Given the description of an element on the screen output the (x, y) to click on. 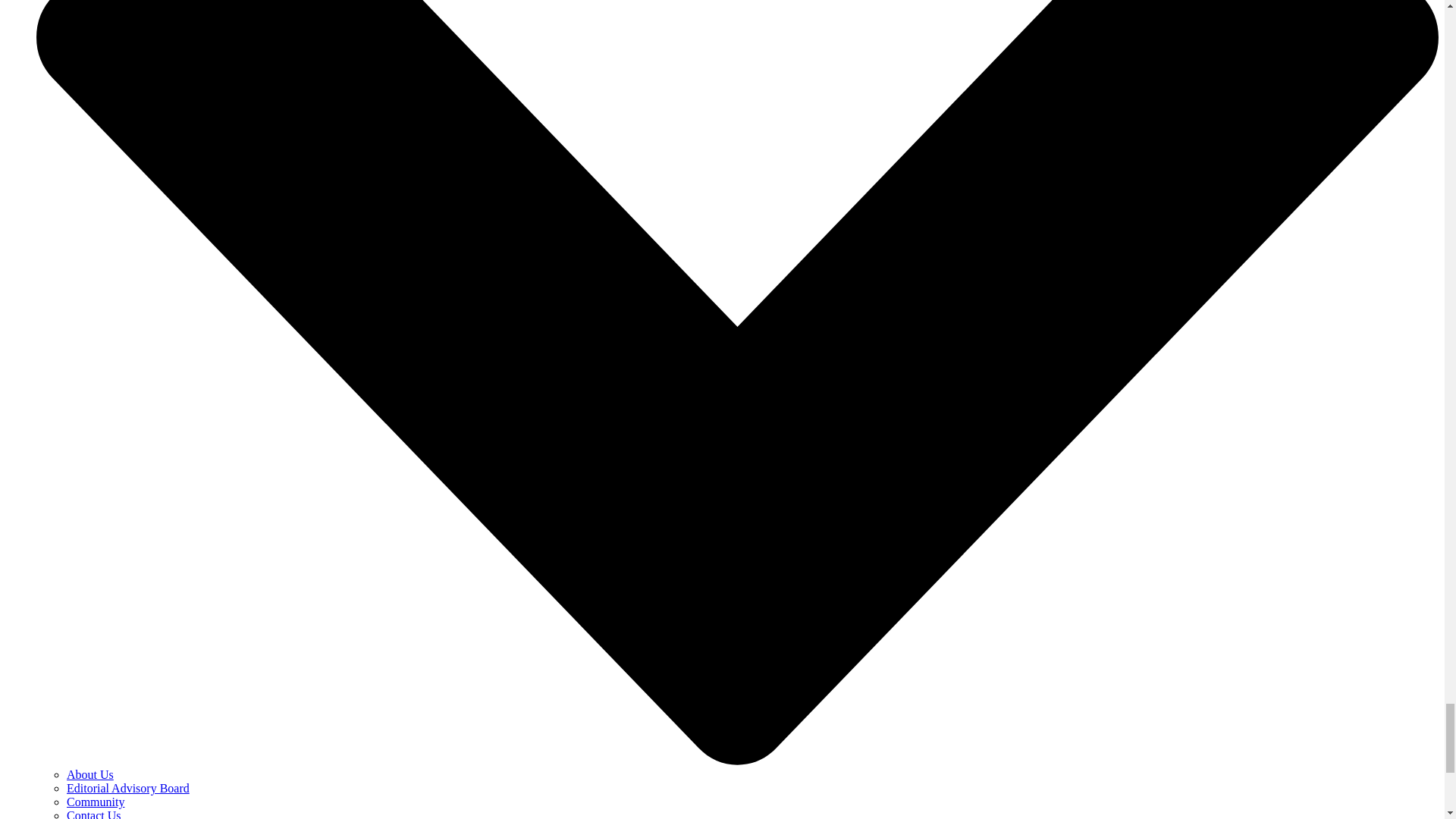
Community (94, 801)
Contact Us (93, 814)
About Us (89, 774)
Editorial Advisory Board (127, 788)
